Given the description of an element on the screen output the (x, y) to click on. 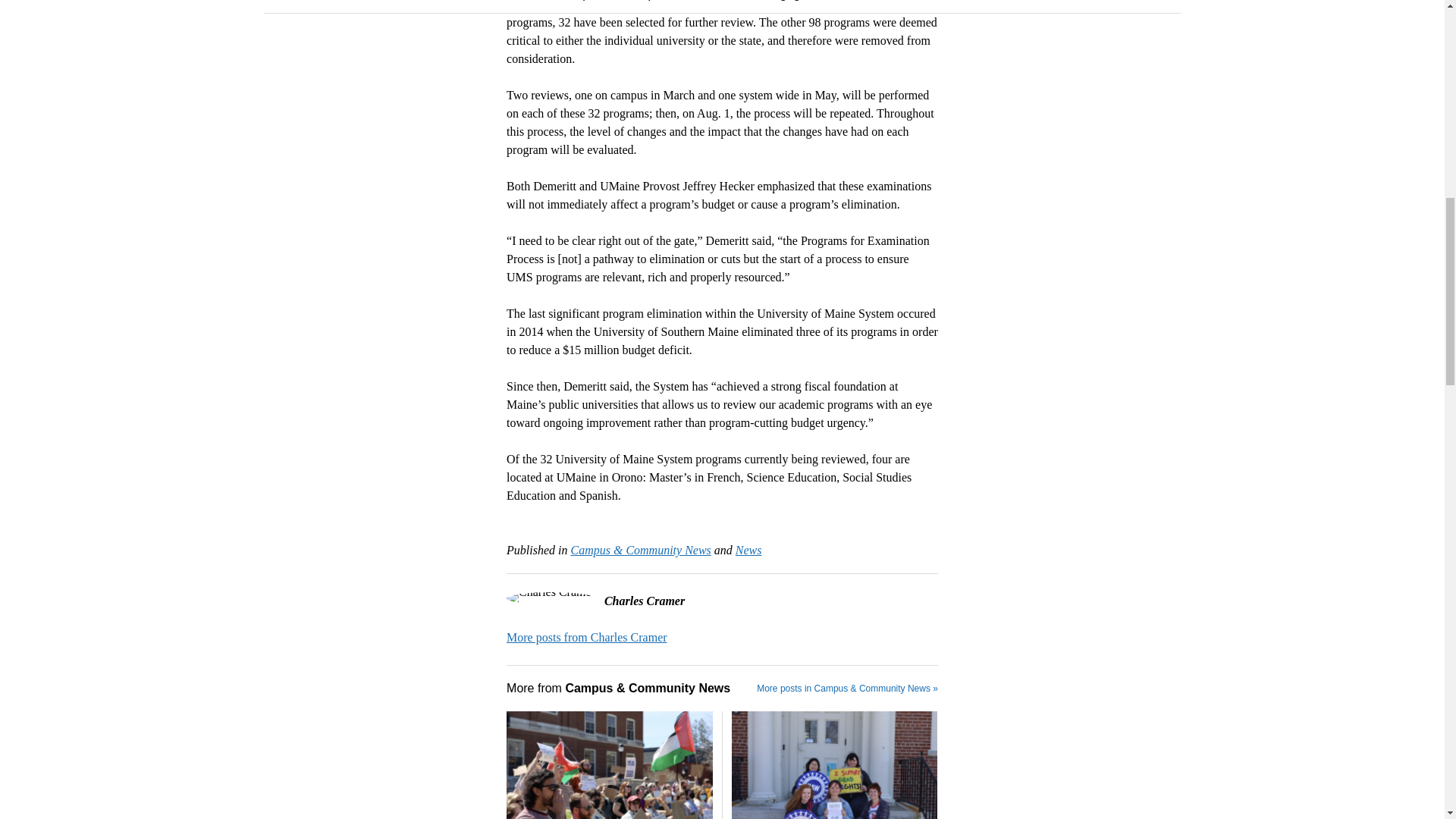
View all posts in News (748, 549)
Charles Cramer (586, 636)
